Given the description of an element on the screen output the (x, y) to click on. 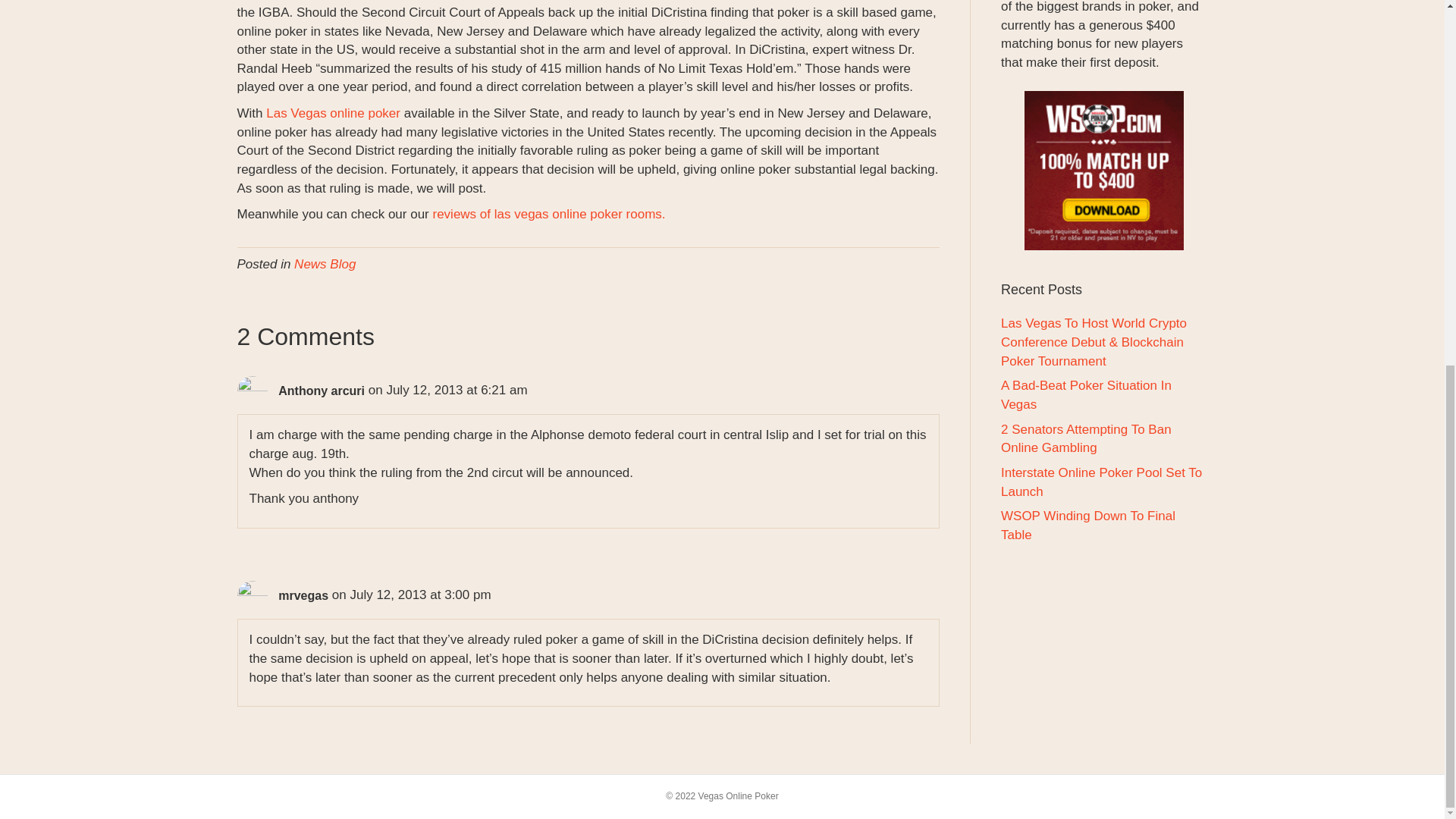
A Bad-Beat Poker Situation In Vegas (1086, 394)
News Blog (324, 264)
Las Vegas online poker (333, 113)
2 Senators Attempting To Ban Online Gambling (1086, 438)
reviews of las vegas online poker rooms. (548, 214)
Interstate Online Poker Pool Set To Launch (1101, 482)
WSOP Winding Down To Final Table (1087, 525)
